Given the description of an element on the screen output the (x, y) to click on. 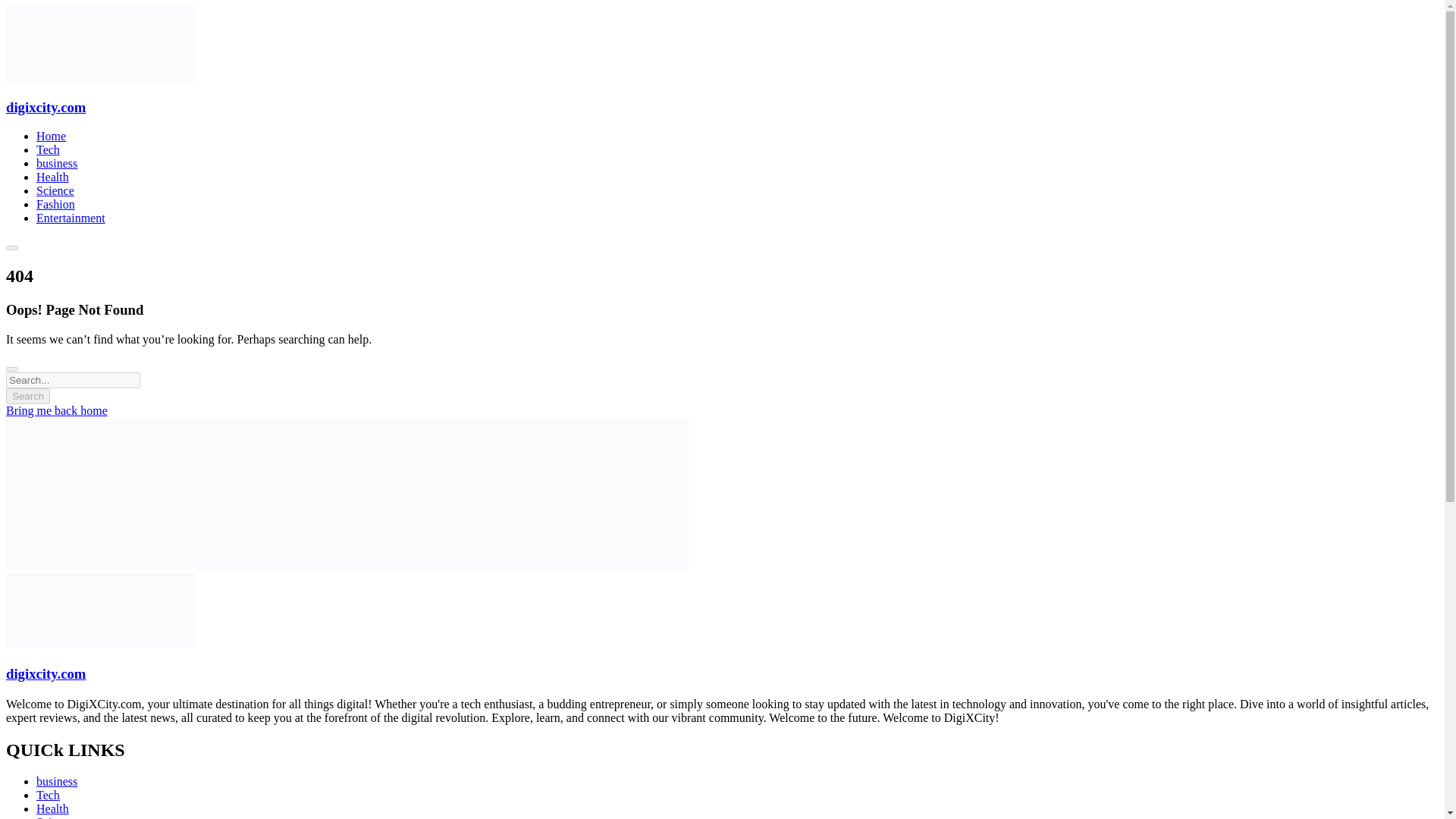
Home (50, 135)
digixcity.com (100, 77)
business (56, 780)
Health (52, 176)
digixcity.com (100, 644)
Search (27, 396)
Search (27, 396)
Search (27, 396)
digixcity.com (45, 673)
business (56, 163)
